Given the description of an element on the screen output the (x, y) to click on. 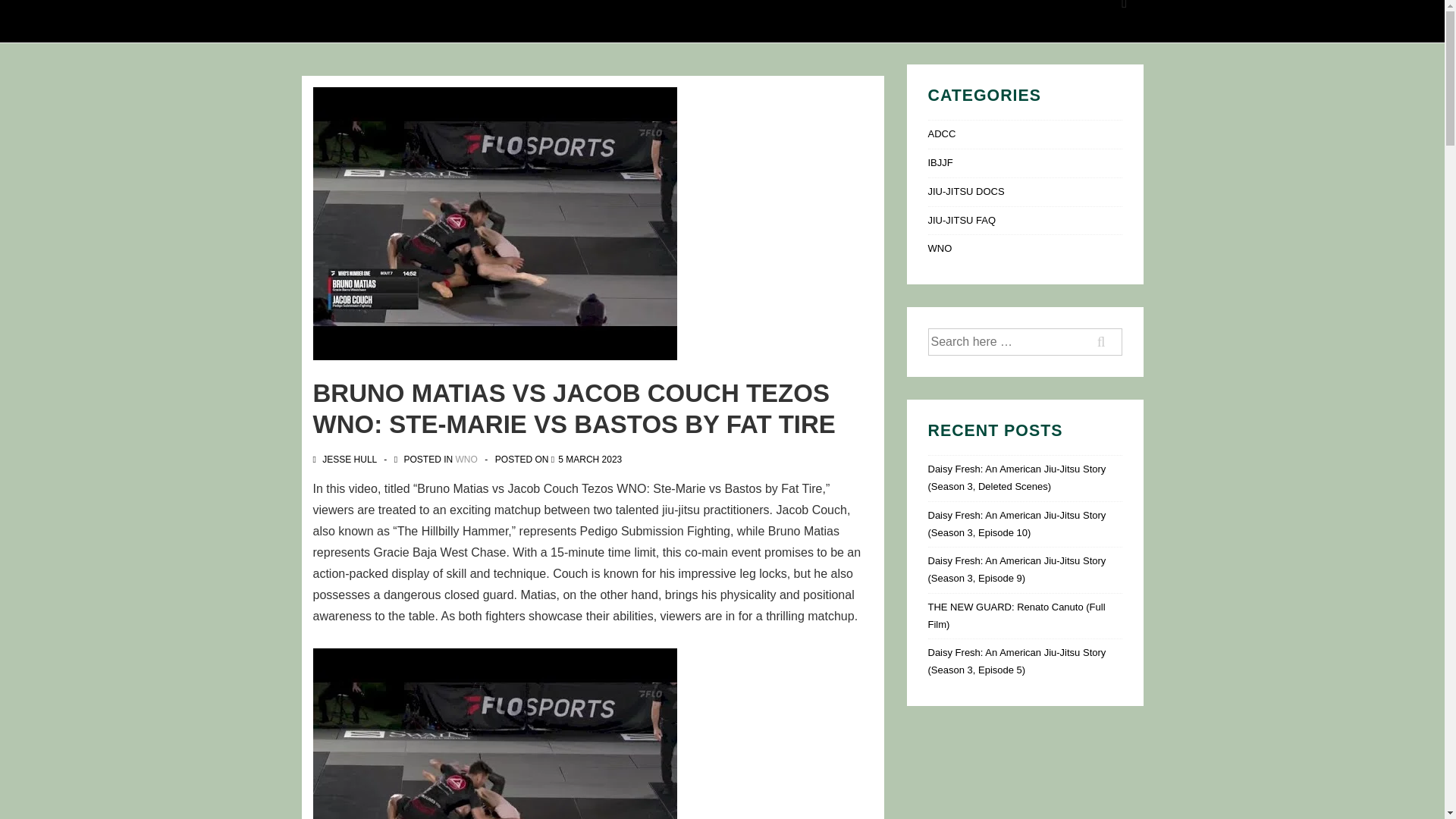
WNO (466, 458)
JESSE HULL (345, 458)
5 MARCH 2023 (589, 458)
View all posts by Jesse Hull (345, 458)
